Given the description of an element on the screen output the (x, y) to click on. 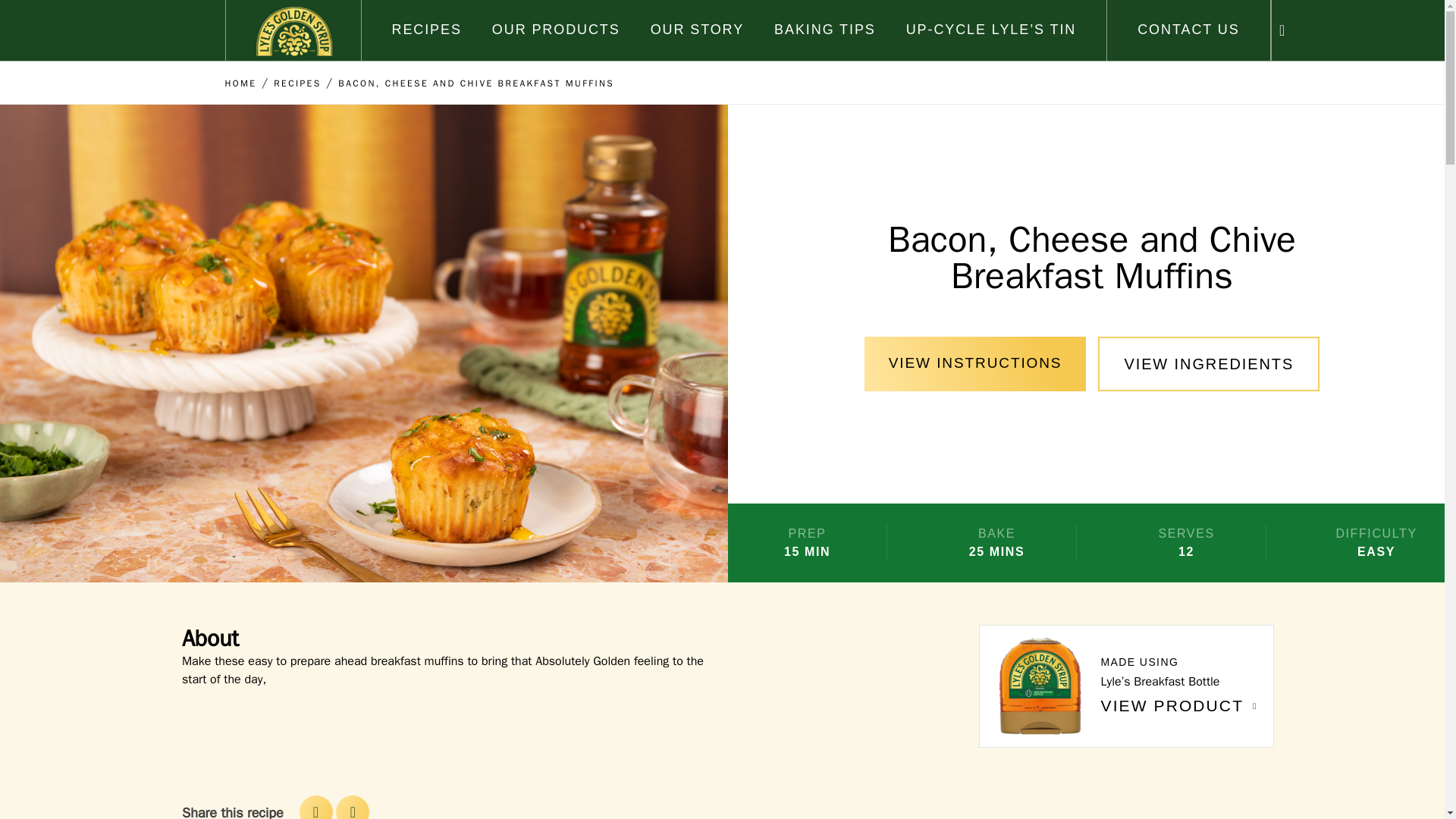
OUR STORY (697, 29)
RECIPES (296, 82)
VIEW INSTRUCTIONS (975, 363)
CONTACT US (1188, 29)
OUR PRODUCTS (556, 29)
HOME (240, 82)
Recipes (426, 29)
Our Products (556, 29)
Our Story (697, 29)
VIEW INGREDIENTS (1208, 363)
Baking Tips (825, 29)
BAKING TIPS (825, 29)
RECIPES (426, 29)
